Given the description of an element on the screen output the (x, y) to click on. 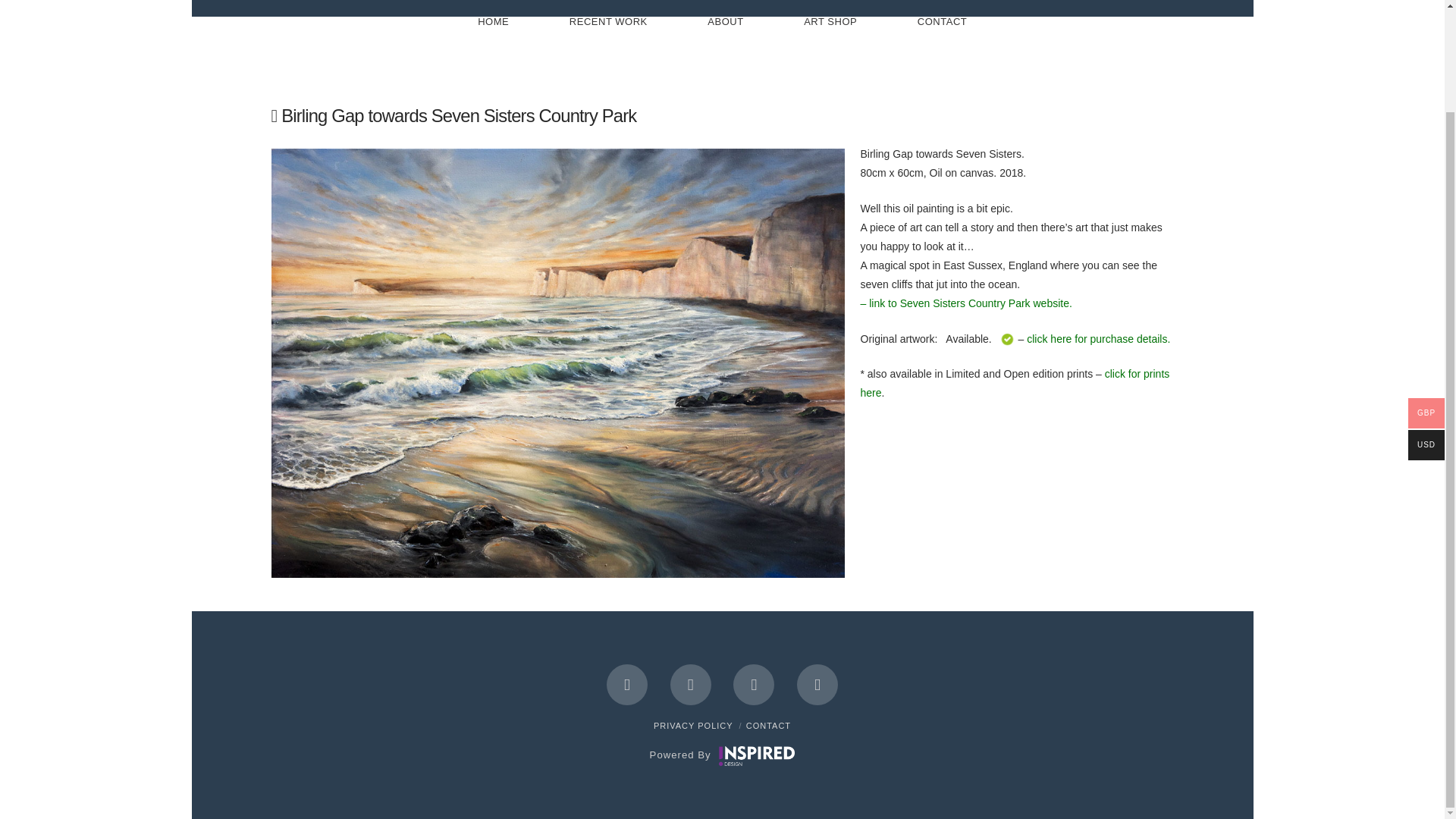
click here for purchase details. (1098, 338)
Inspired Design (756, 755)
ABOUT (725, 45)
RECENT WORK (607, 45)
Instagram (753, 684)
CONTACT (941, 45)
HOME (492, 45)
click for prints here (1014, 382)
Facebook (627, 684)
ART SHOP (829, 45)
Pinterest (817, 684)
